Given the description of an element on the screen output the (x, y) to click on. 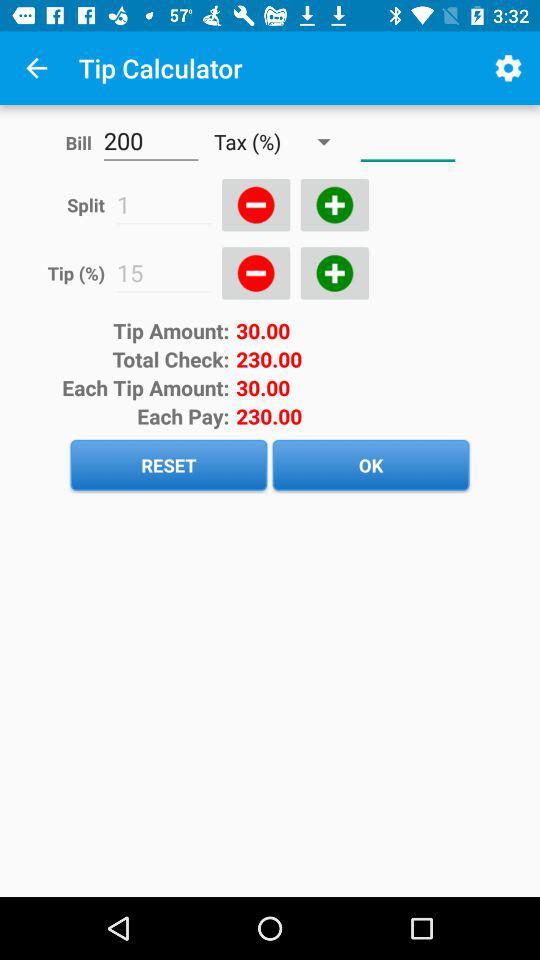
increase tip (334, 273)
